Given the description of an element on the screen output the (x, y) to click on. 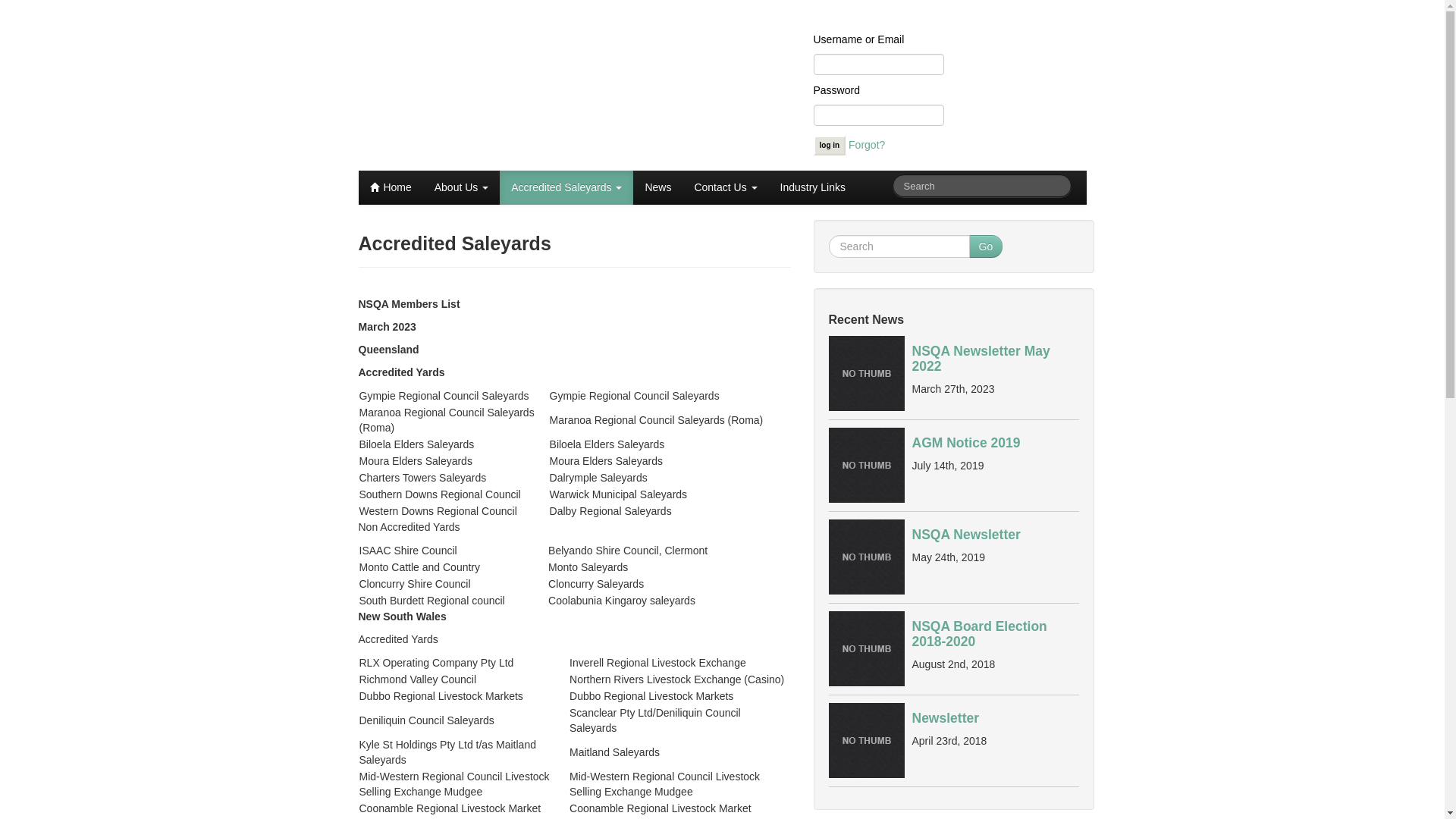
Newsletter Element type: text (945, 717)
log in Element type: text (828, 145)
Industry Links Element type: text (812, 187)
NSQA Newsletter Element type: hover (865, 557)
Skip to secondary content Element type: text (418, 177)
Skip to primary content Element type: text (411, 177)
About Us Element type: text (461, 187)
Newsletter Element type: hover (865, 740)
Forgot? Element type: text (866, 144)
NSQA Board Election 2018-2020 Element type: text (978, 633)
NSQA Board Election 2018-2020 Element type: hover (865, 649)
NSQA Newsletter May 2022 Element type: hover (865, 373)
Contact Us Element type: text (725, 187)
AGM Notice 2019 Element type: text (965, 442)
News Element type: text (657, 187)
Go Element type: text (986, 246)
AGM Notice 2019 Element type: hover (865, 465)
NSQA Element type: text (384, 192)
NSQA Newsletter May 2022 Element type: text (980, 358)
Accredited Saleyards Element type: text (566, 187)
Home Element type: text (389, 187)
NSQA Newsletter Element type: text (965, 534)
